Given the description of an element on the screen output the (x, y) to click on. 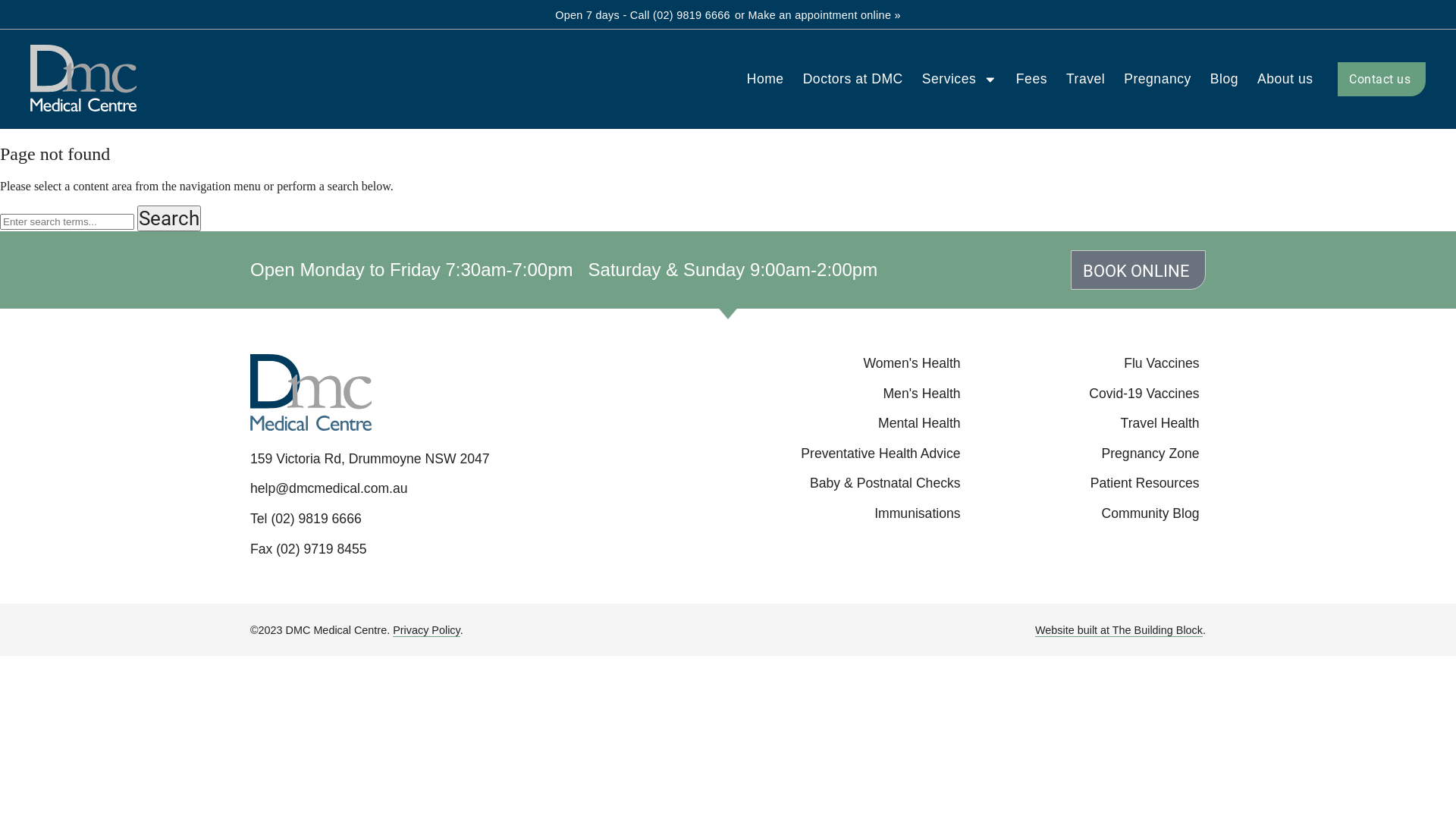
BOOK ONLINE Element type: text (1137, 269)
Tel (02) 9819 6666 Element type: text (458, 518)
Services Element type: text (959, 78)
help@dmcmedical.com.au Element type: text (458, 488)
Fees Element type: text (1031, 78)
Pregnancy Element type: text (1157, 78)
159 Victoria Rd, Drummoyne NSW 2047 Element type: text (458, 458)
Men's Health Element type: text (844, 393)
Covid-19 Vaccines Element type: text (1079, 393)
Blog Element type: text (1224, 78)
Baby & Postnatal Checks Element type: text (844, 482)
Home Element type: text (765, 78)
Community Blog Element type: text (1079, 513)
Women's Health Element type: text (844, 363)
Patient Resources Element type: text (1079, 482)
Website built at The Building Block Element type: text (1118, 630)
Contact us Element type: text (1381, 78)
Travel Element type: text (1085, 78)
Open 7 days - Call (02) 9819 6666 Element type: text (642, 14)
Search Element type: text (168, 218)
Immunisations Element type: text (844, 513)
Pregnancy Zone Element type: text (1079, 453)
Preventative Health Advice Element type: text (844, 453)
Privacy Policy Element type: text (426, 630)
About us Element type: text (1284, 78)
Mental Health Element type: text (844, 423)
Doctors at DMC Element type: text (853, 78)
Flu Vaccines Element type: text (1079, 363)
Search for: Element type: hover (67, 221)
Travel Health Element type: text (1079, 423)
